Given the description of an element on the screen output the (x, y) to click on. 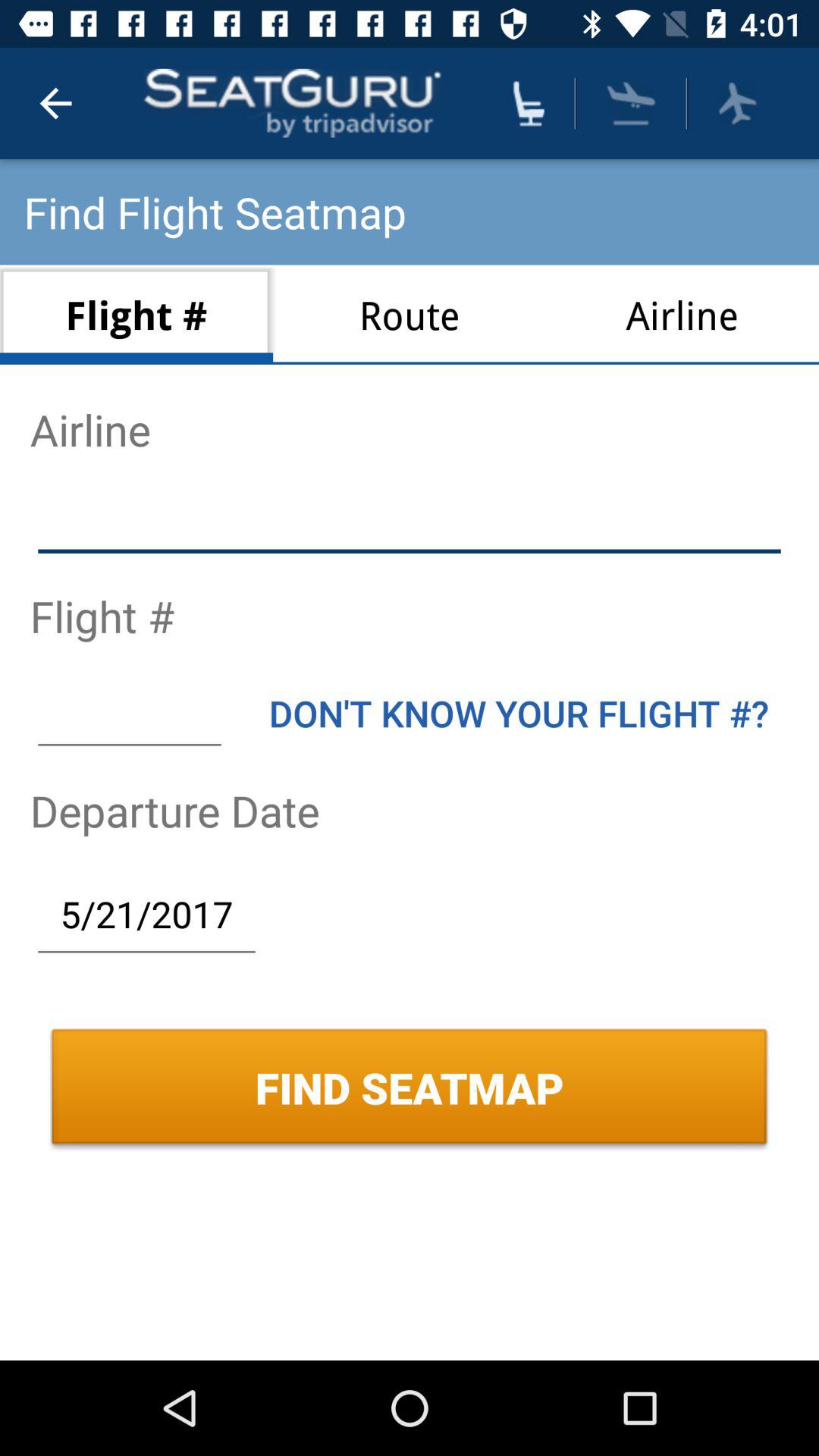
click the icon above the departure date icon (518, 712)
